Given the description of an element on the screen output the (x, y) to click on. 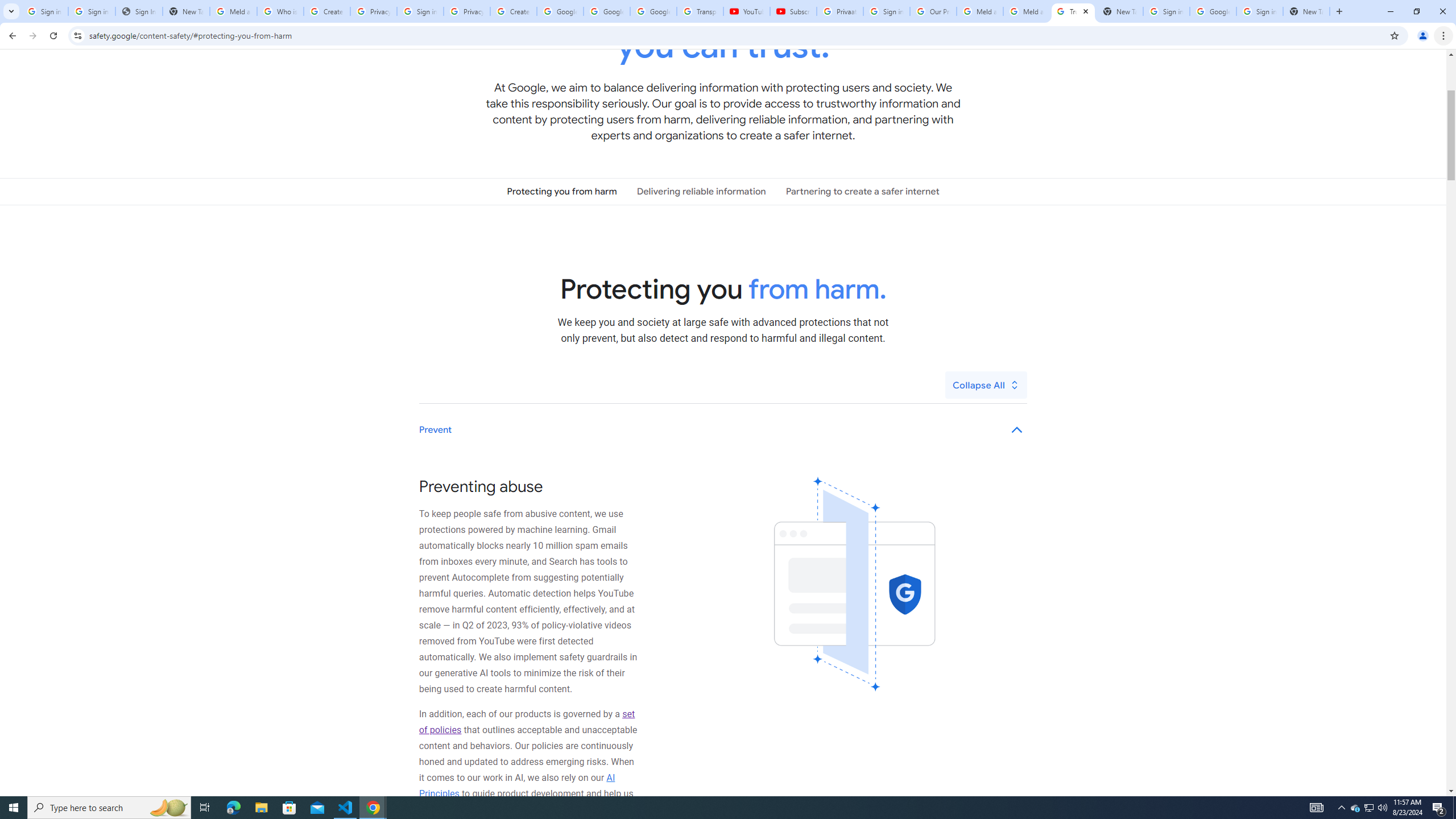
Collapse All (985, 384)
Partnering to create a safer internet (862, 191)
New Tab (1306, 11)
Delivering reliable information (700, 191)
Create your Google Account (326, 11)
Who is my administrator? - Google Account Help (279, 11)
YouTube (745, 11)
